Given the description of an element on the screen output the (x, y) to click on. 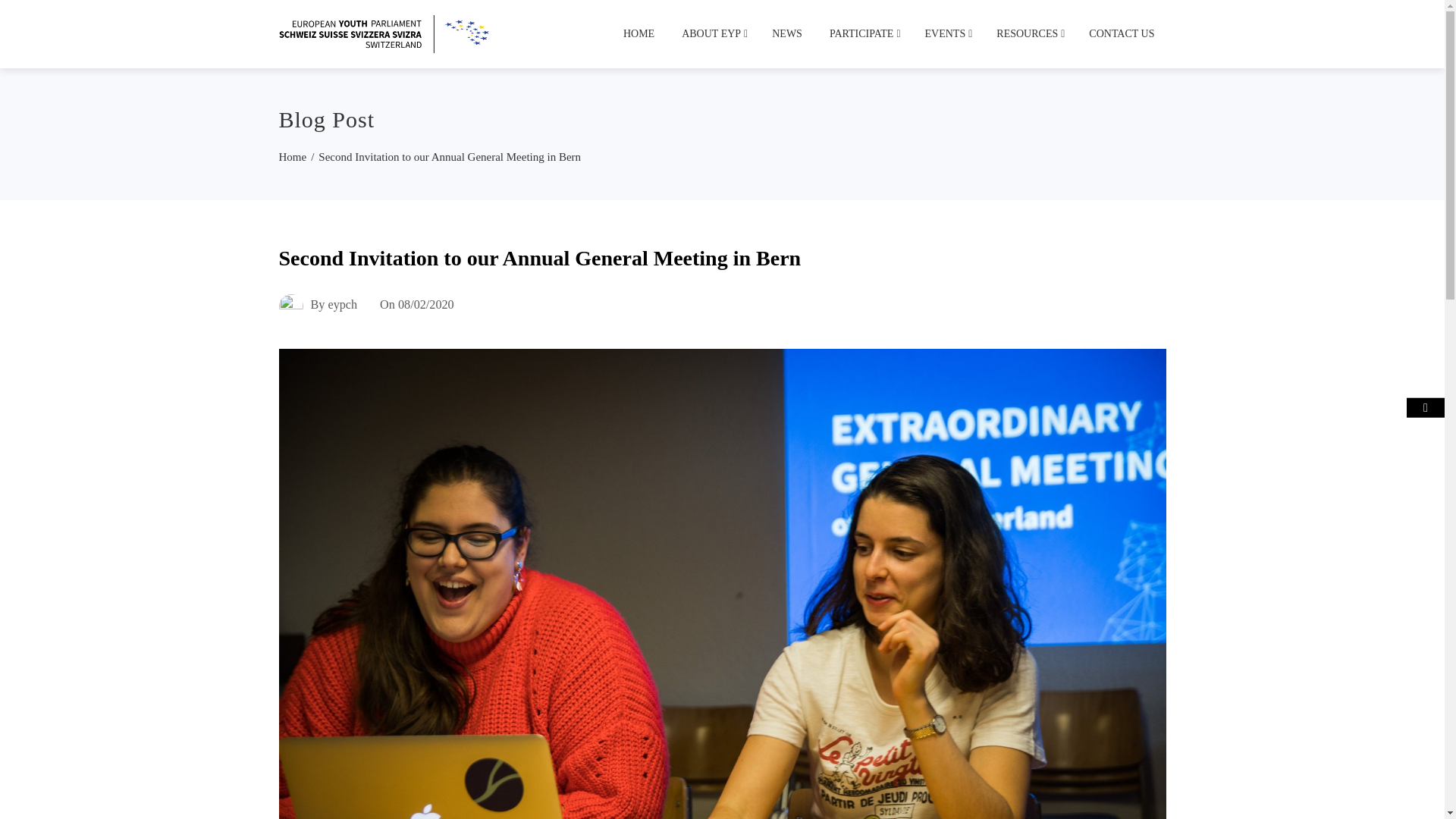
RESOURCES (1029, 33)
EVENTS (947, 33)
ABOUT EYP (712, 33)
PARTICIPATE (863, 33)
NEWS (786, 33)
HOME (638, 33)
CONTACT US (1121, 33)
